Given the description of an element on the screen output the (x, y) to click on. 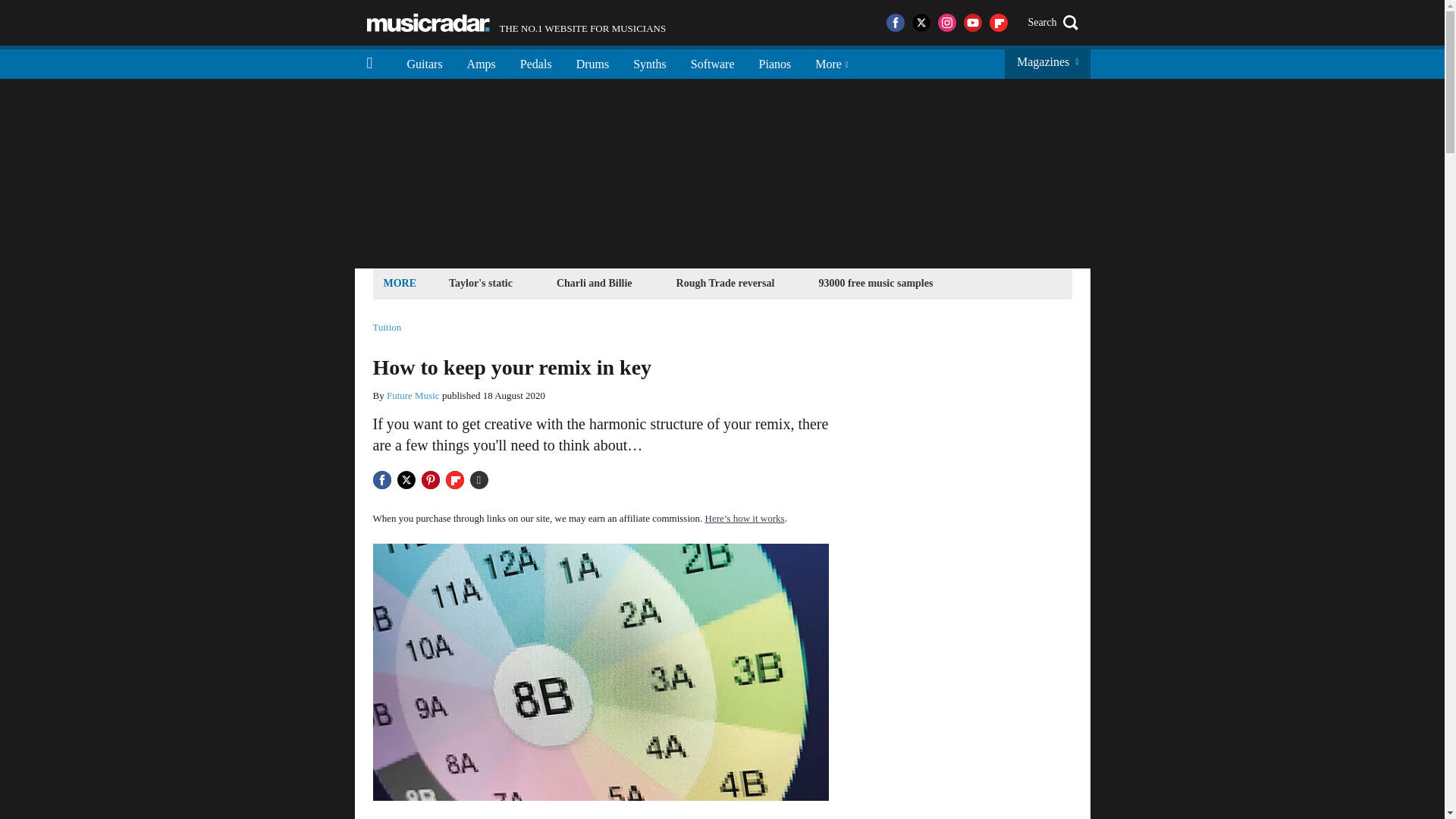
Future Music (413, 395)
93000 free music samples (874, 282)
Synths (649, 61)
Tuition (386, 327)
Music Radar (427, 22)
Taylor's static (481, 282)
Amps (481, 61)
Software (516, 22)
Pedals (712, 61)
